Given the description of an element on the screen output the (x, y) to click on. 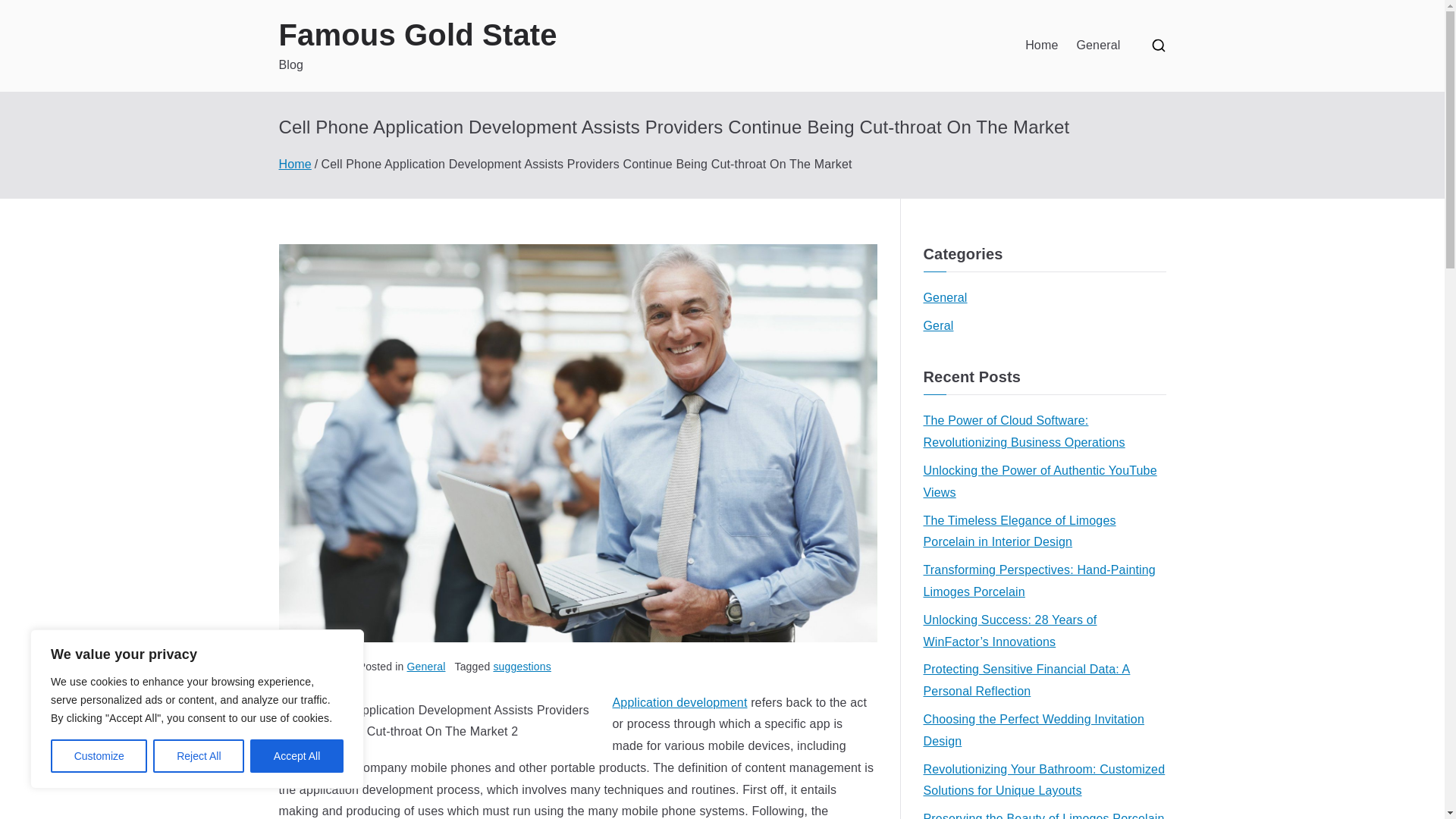
Customize (98, 756)
Home (295, 164)
General (1097, 45)
suggestions (521, 666)
Reject All (198, 756)
Application development (680, 702)
Famous Gold State (418, 34)
Home (1041, 45)
General (945, 298)
Geral (938, 326)
General (426, 666)
Accept All (296, 756)
